Given the description of an element on the screen output the (x, y) to click on. 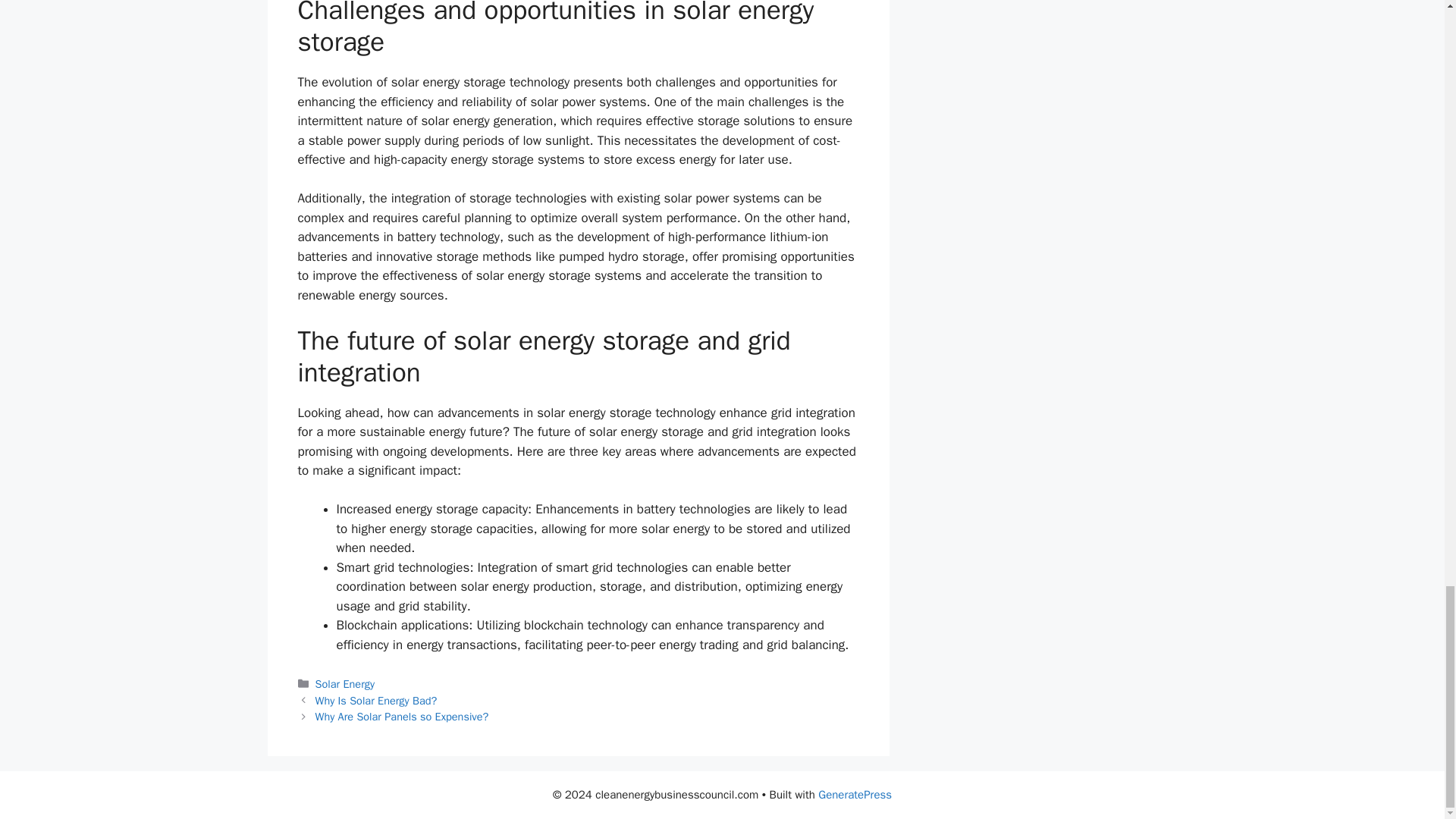
Why Is Solar Energy Bad? (376, 700)
Why Are Solar Panels so Expensive? (402, 716)
GeneratePress (854, 794)
Solar Energy (344, 684)
